Given the description of an element on the screen output the (x, y) to click on. 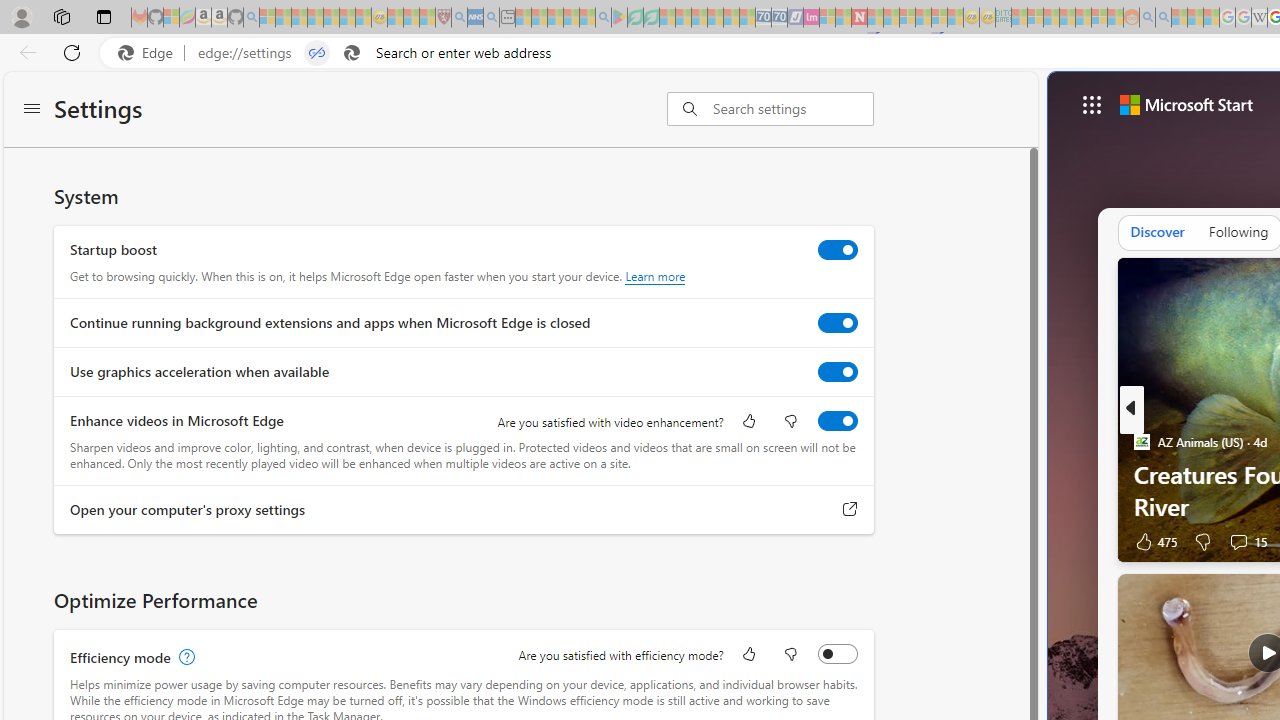
View comments 15 Comment (1246, 541)
Enhance videos in Microsoft Edge (837, 421)
Search settings (791, 109)
View comments 15 Comment (1238, 541)
